Given the description of an element on the screen output the (x, y) to click on. 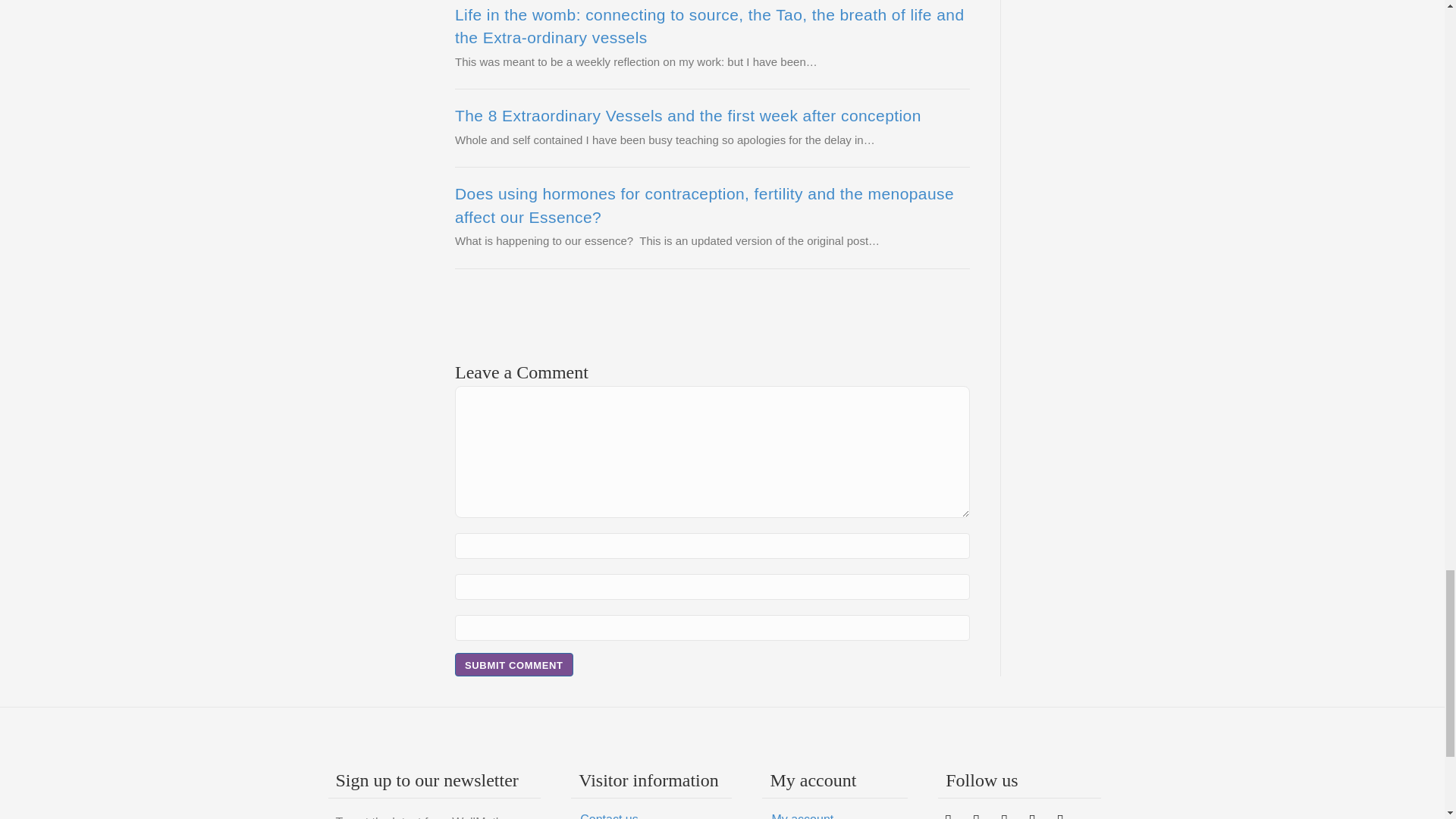
Submit Comment (513, 664)
